Given the description of an element on the screen output the (x, y) to click on. 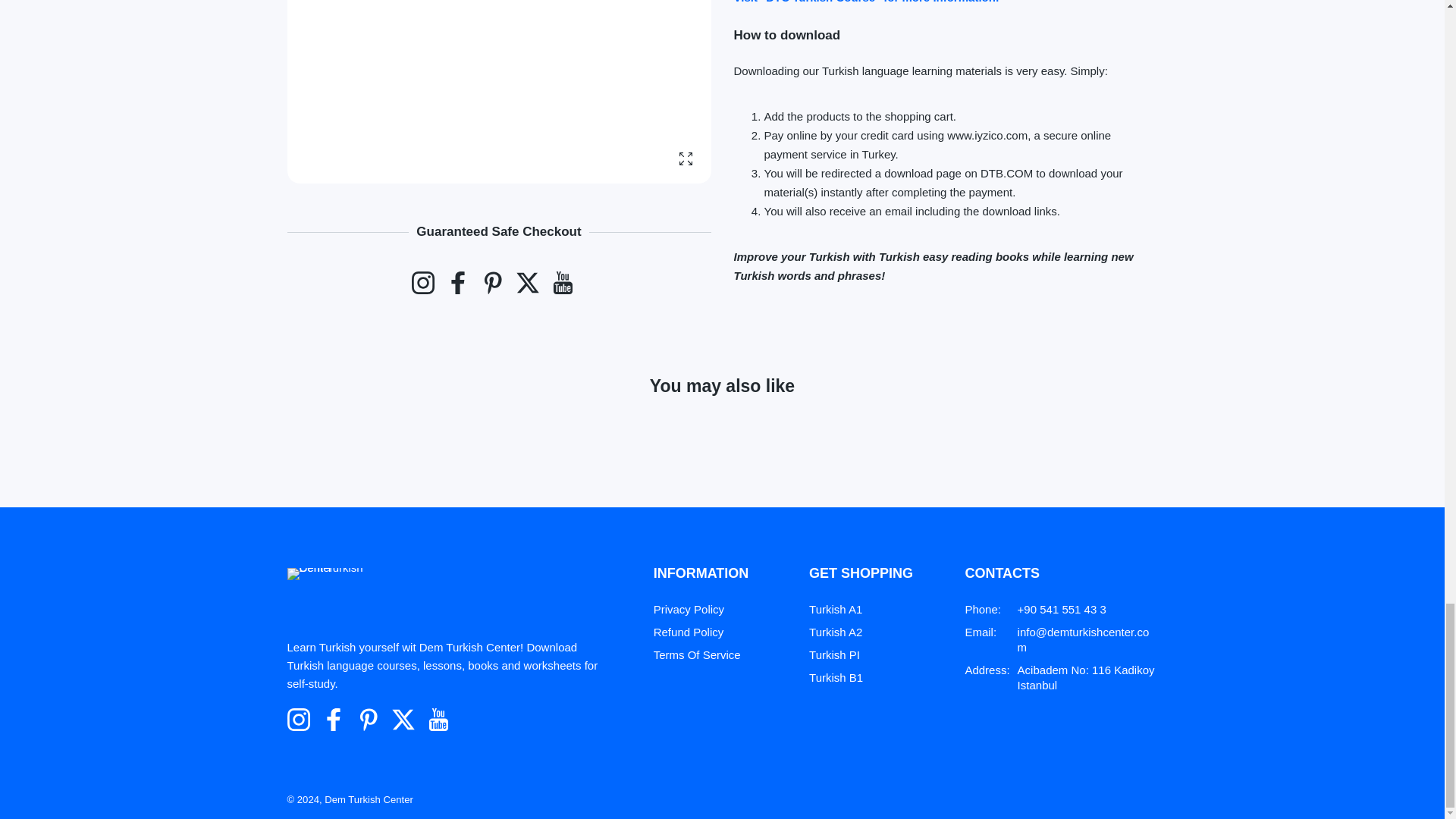
Dem Turkish Center  (341, 610)
turkish language courses (865, 11)
You may also like (722, 418)
